Given the description of an element on the screen output the (x, y) to click on. 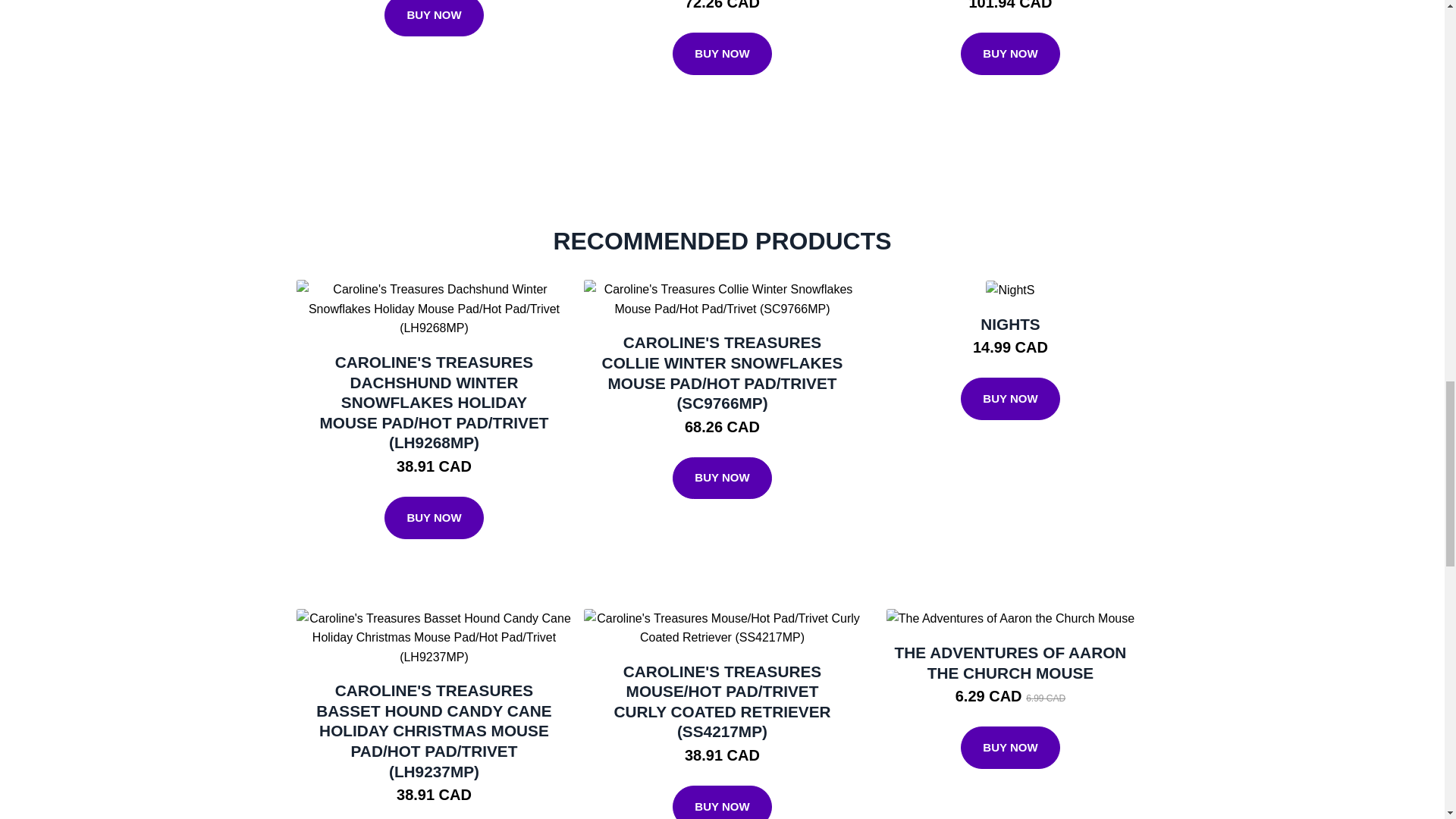
BUY NOW (1009, 53)
BUY NOW (433, 517)
BUY NOW (721, 53)
BUY NOW (721, 478)
NIGHTS (1010, 323)
BUY NOW (1009, 398)
BUY NOW (433, 18)
